Given the description of an element on the screen output the (x, y) to click on. 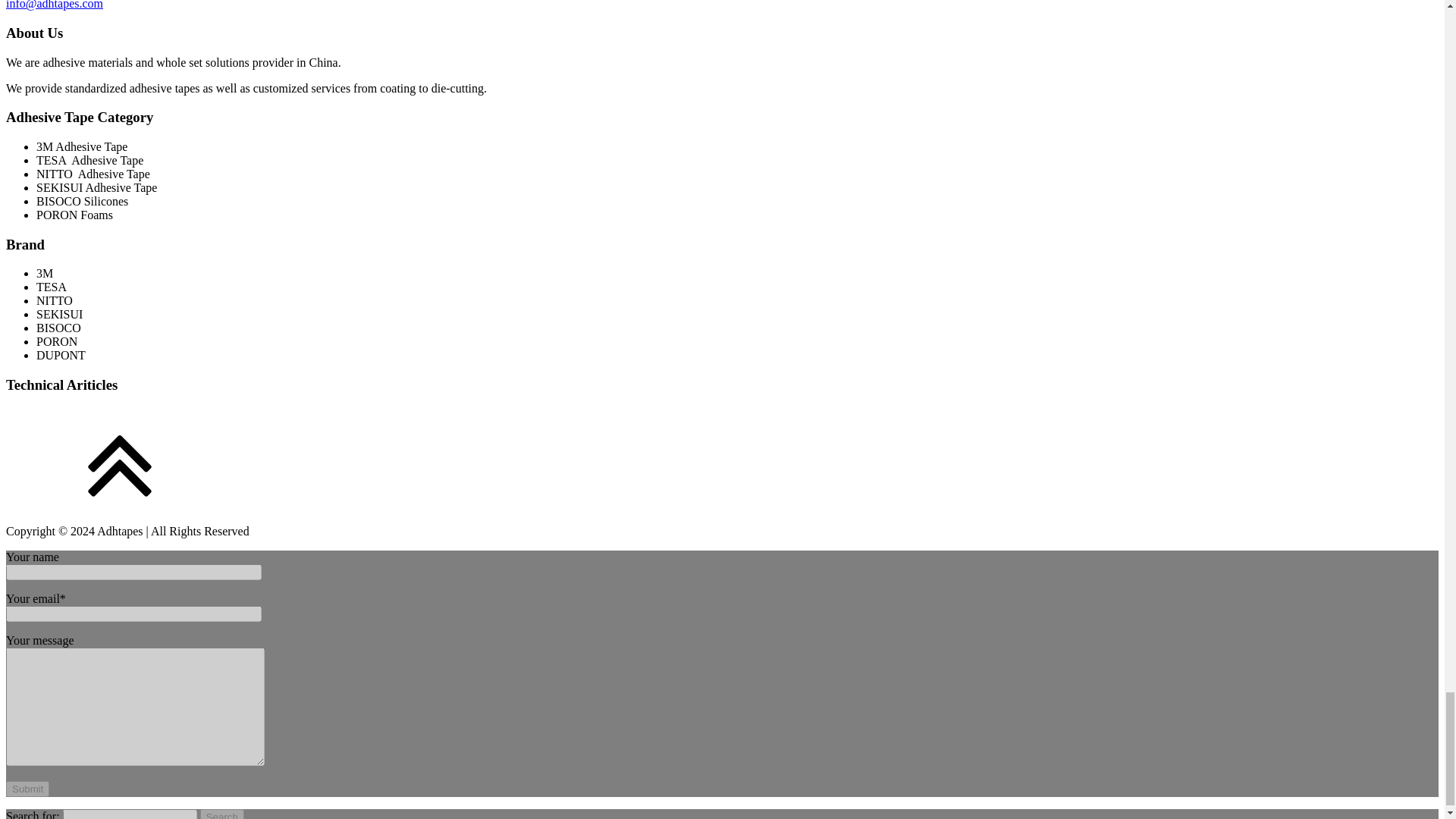
Submit (27, 788)
Submit (27, 788)
